Given the description of an element on the screen output the (x, y) to click on. 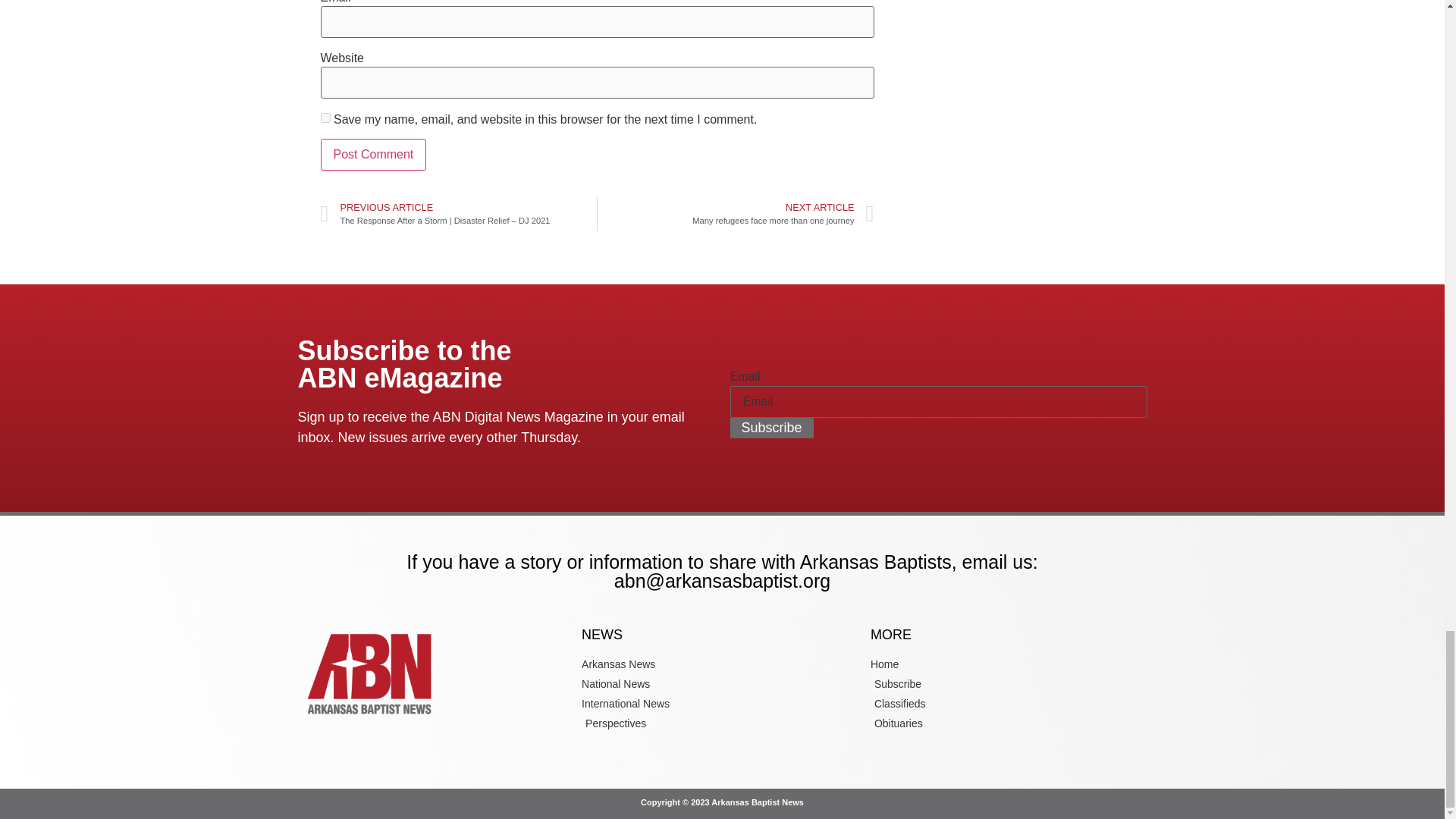
Post Comment (373, 154)
yes (325, 117)
Subscribe (770, 427)
